Given the description of an element on the screen output the (x, y) to click on. 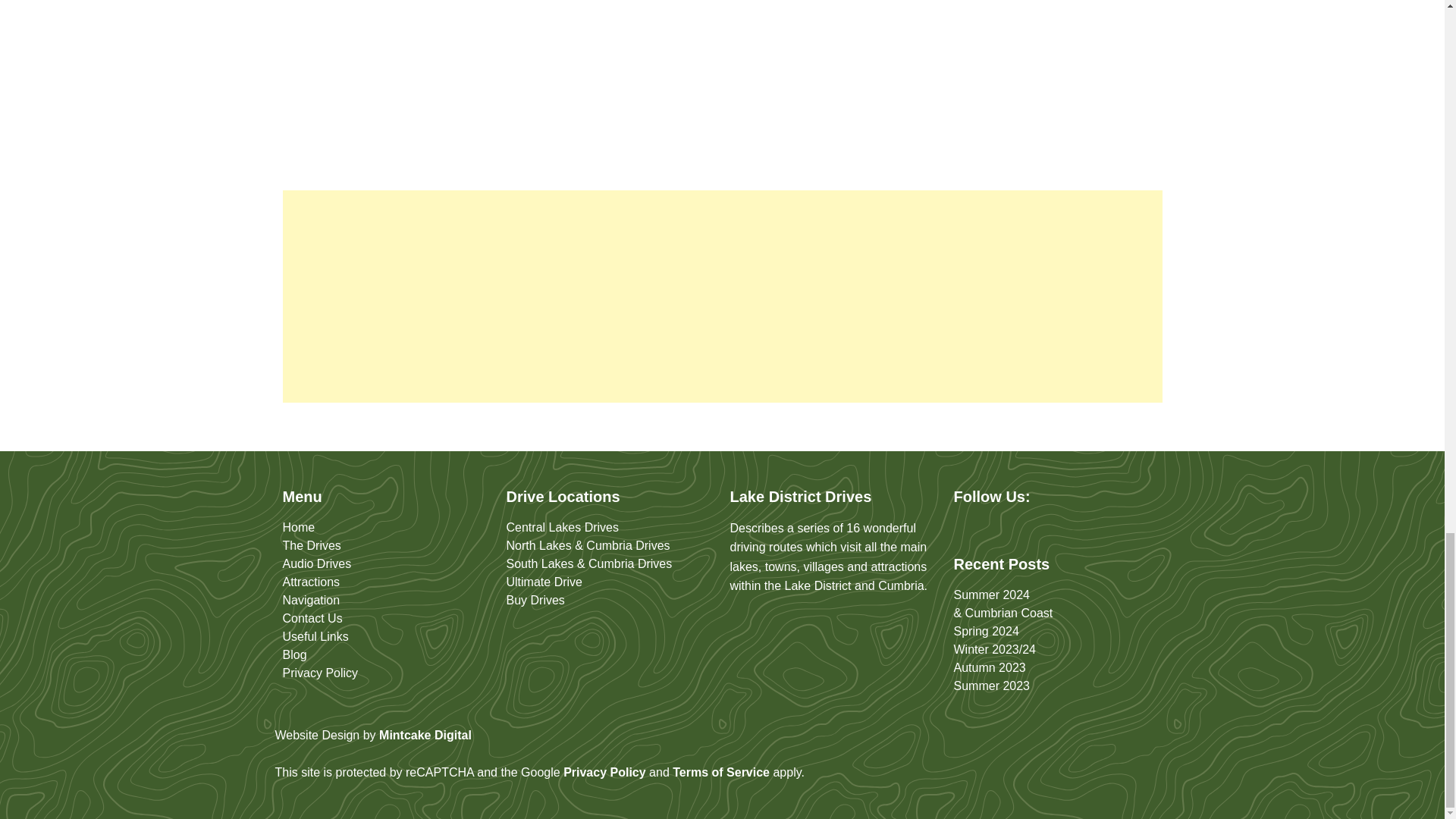
Useful Links (314, 635)
Audio Drives (316, 563)
Privacy Policy (320, 672)
Home (298, 526)
Contact Us (312, 617)
Navigation (310, 599)
Central Lakes Drives (563, 526)
The Drives (311, 545)
Blog (293, 654)
Attractions (310, 581)
